Given the description of an element on the screen output the (x, y) to click on. 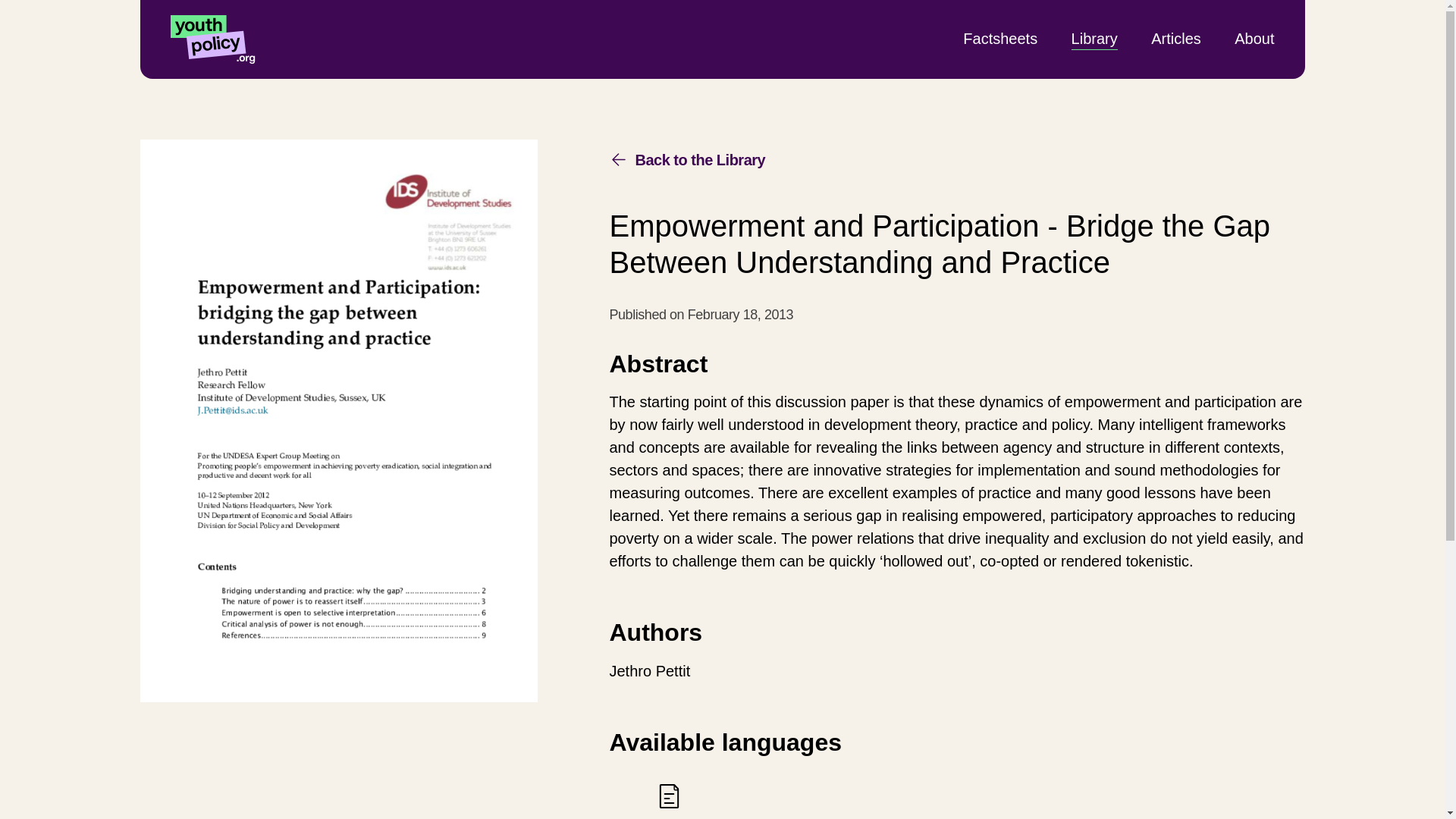
Library (1094, 38)
Articles (1176, 38)
Back to the Library (687, 159)
Factsheets (999, 38)
About (1254, 38)
